Given the description of an element on the screen output the (x, y) to click on. 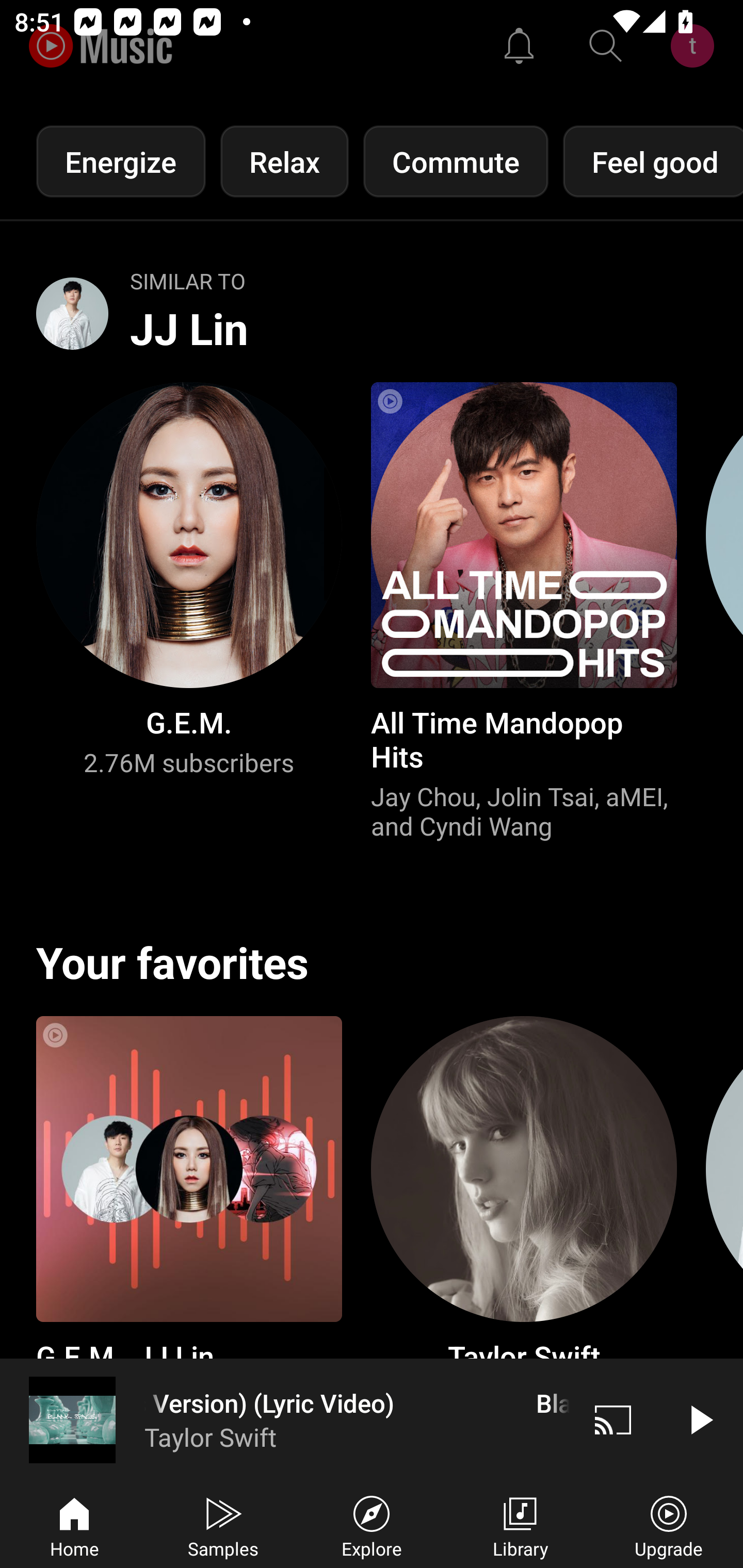
Activity feed (518, 46)
Search (605, 46)
Account (696, 46)
Cast. Disconnected (612, 1419)
Play video (699, 1419)
Home (74, 1524)
Samples (222, 1524)
Explore (371, 1524)
Library (519, 1524)
Upgrade (668, 1524)
